Given the description of an element on the screen output the (x, y) to click on. 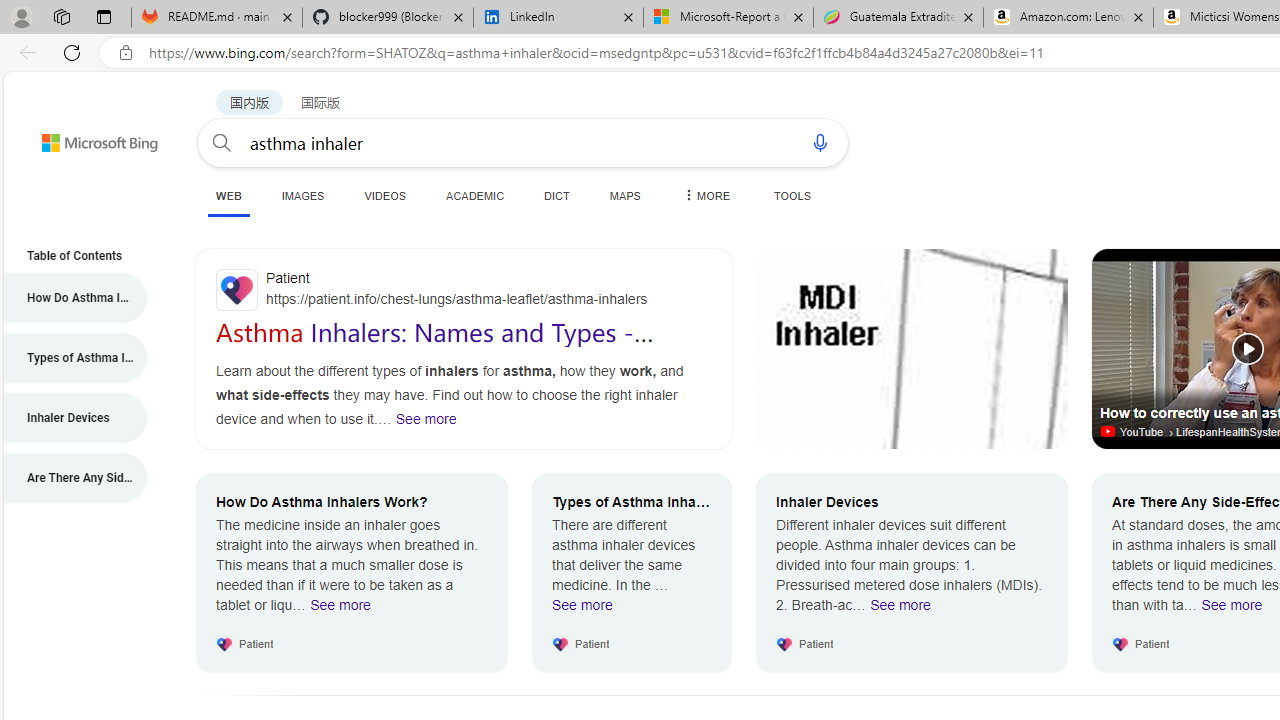
DICT (557, 195)
Back to Bing search (87, 138)
DICT (557, 195)
Patient (463, 290)
WEB (228, 196)
Video source site (1109, 431)
Search button (221, 142)
